Given the description of an element on the screen output the (x, y) to click on. 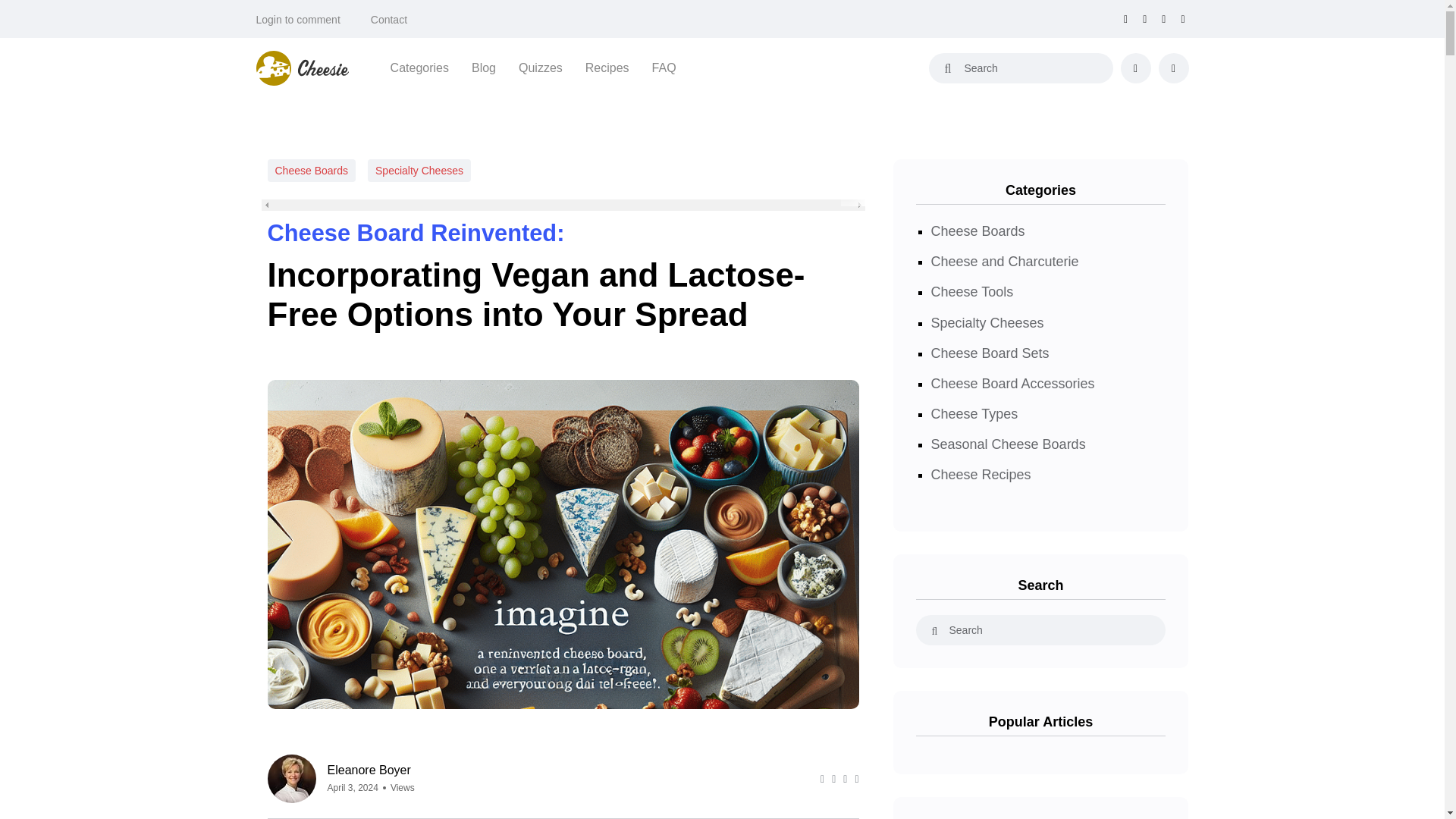
Login to comment (298, 19)
Contact (389, 19)
Categories (419, 67)
